Given the description of an element on the screen output the (x, y) to click on. 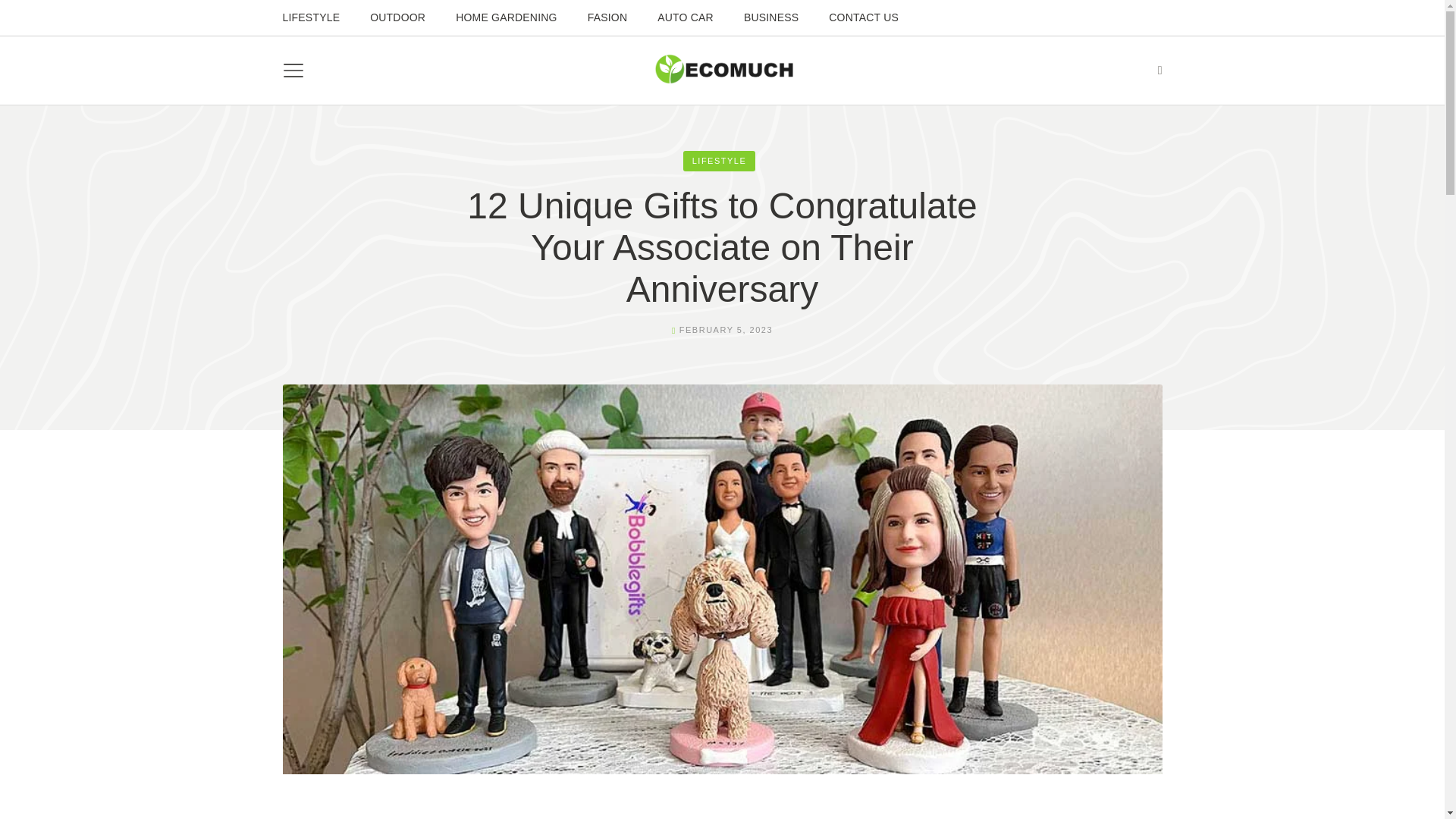
BUSINESS (771, 17)
FASION (606, 17)
HOME GARDENING (505, 17)
AUTO CAR (684, 17)
OUTDOOR (397, 17)
CONTACT US (863, 17)
LIFESTYLE (311, 17)
FEBRUARY 5, 2023 (726, 329)
LIFESTYLE (718, 160)
